Given the description of an element on the screen output the (x, y) to click on. 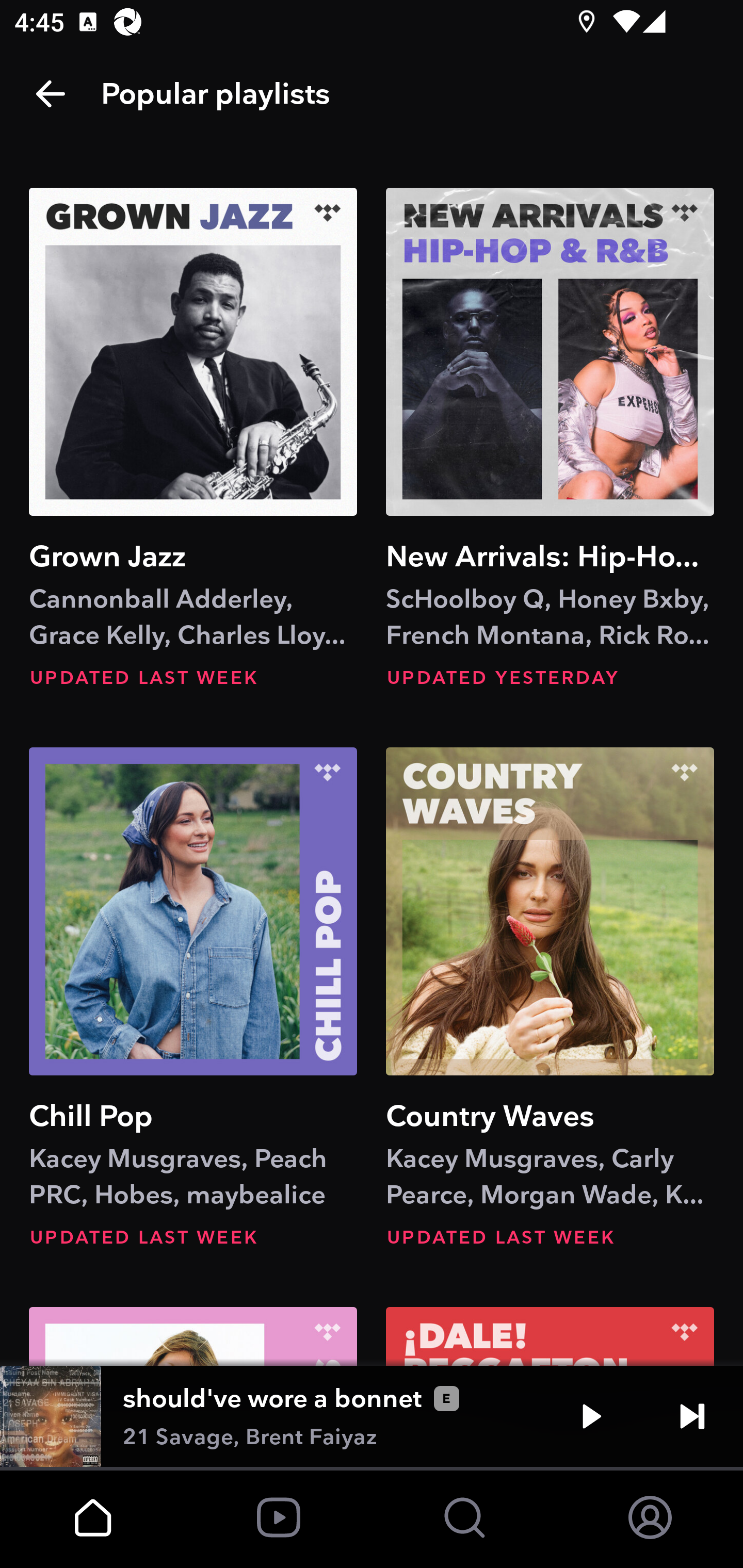
Play (590, 1416)
